Given the description of an element on the screen output the (x, y) to click on. 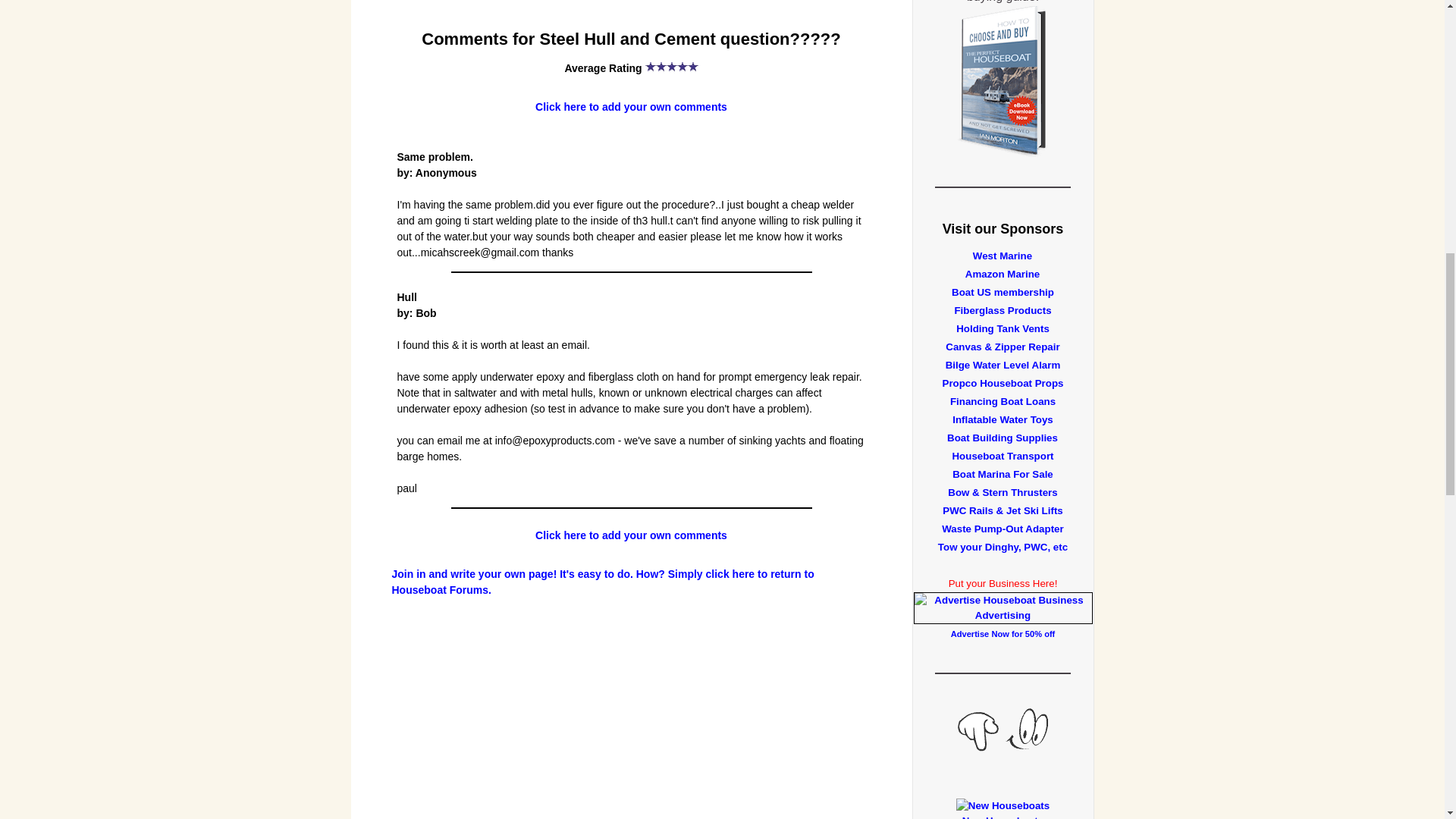
Click here to add your own comments (630, 535)
Click here to add your own comments (630, 106)
